Given the description of an element on the screen output the (x, y) to click on. 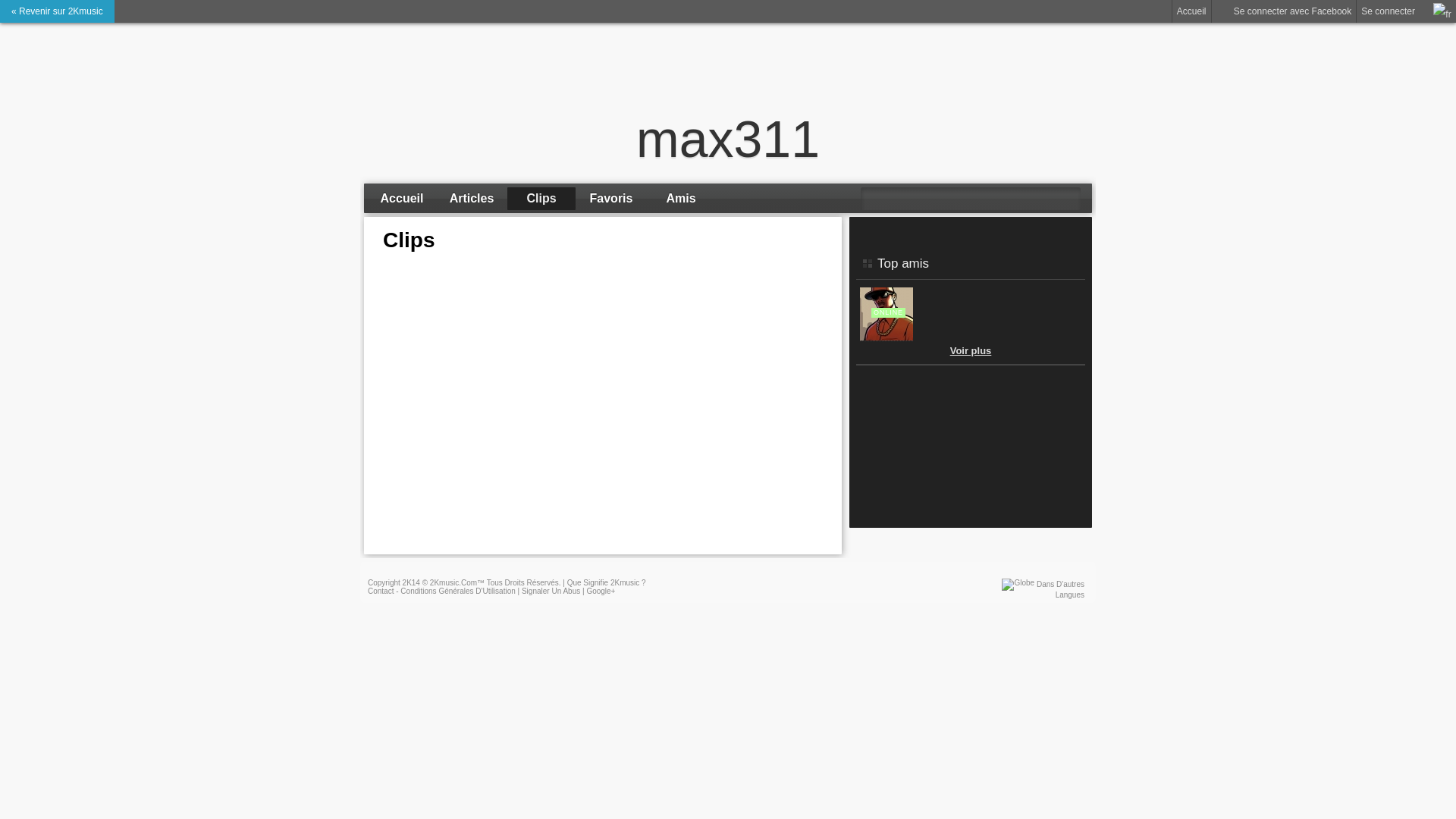
  Element type: text (872, 391)
Google+ Element type: text (600, 590)
 Se connecter avec Facebook Element type: text (1283, 11)
Voir plus Element type: text (970, 350)
Wassup Bruh Element type: hover (886, 337)
Favoris Element type: text (611, 198)
Clips Element type: text (541, 198)
Que Signifie 2Kmusic ? Element type: text (606, 582)
Signaler Un Abus Element type: text (550, 590)
Amis Element type: text (680, 198)
Accueil Element type: text (1191, 11)
max311 Element type: text (727, 138)
Se connecter Element type: text (1387, 11)
Dans D'Autres Langues Element type: text (1060, 589)
Articles Element type: text (471, 198)
Accueil Element type: text (401, 198)
